Given the description of an element on the screen output the (x, y) to click on. 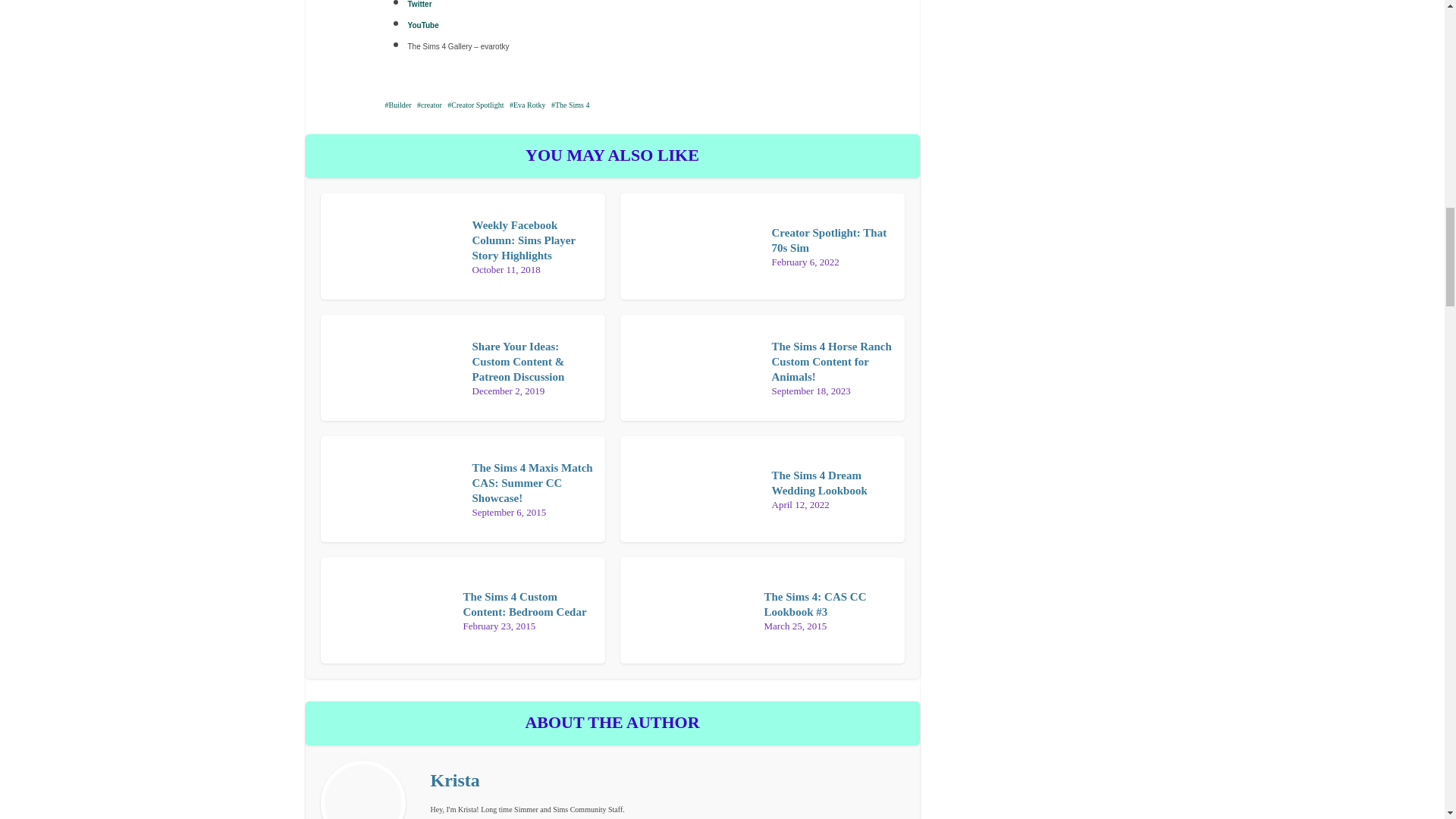
The Sims 4 Horse Ranch Custom Content for Animals! 5 (531, 483)
Weekly Facebook Column: Sims Player Story Highlights (689, 367)
End of content (523, 240)
Creator Spotlight: That 70s Sim 3 (389, 246)
The Sims 4 Horse Ranch Custom Content for Animals! (689, 246)
The Sims 4 Maxis Match CAS: Summer CC Showcase! 6 (831, 362)
Creator Spotlight: That 70s Sim (389, 489)
